Given the description of an element on the screen output the (x, y) to click on. 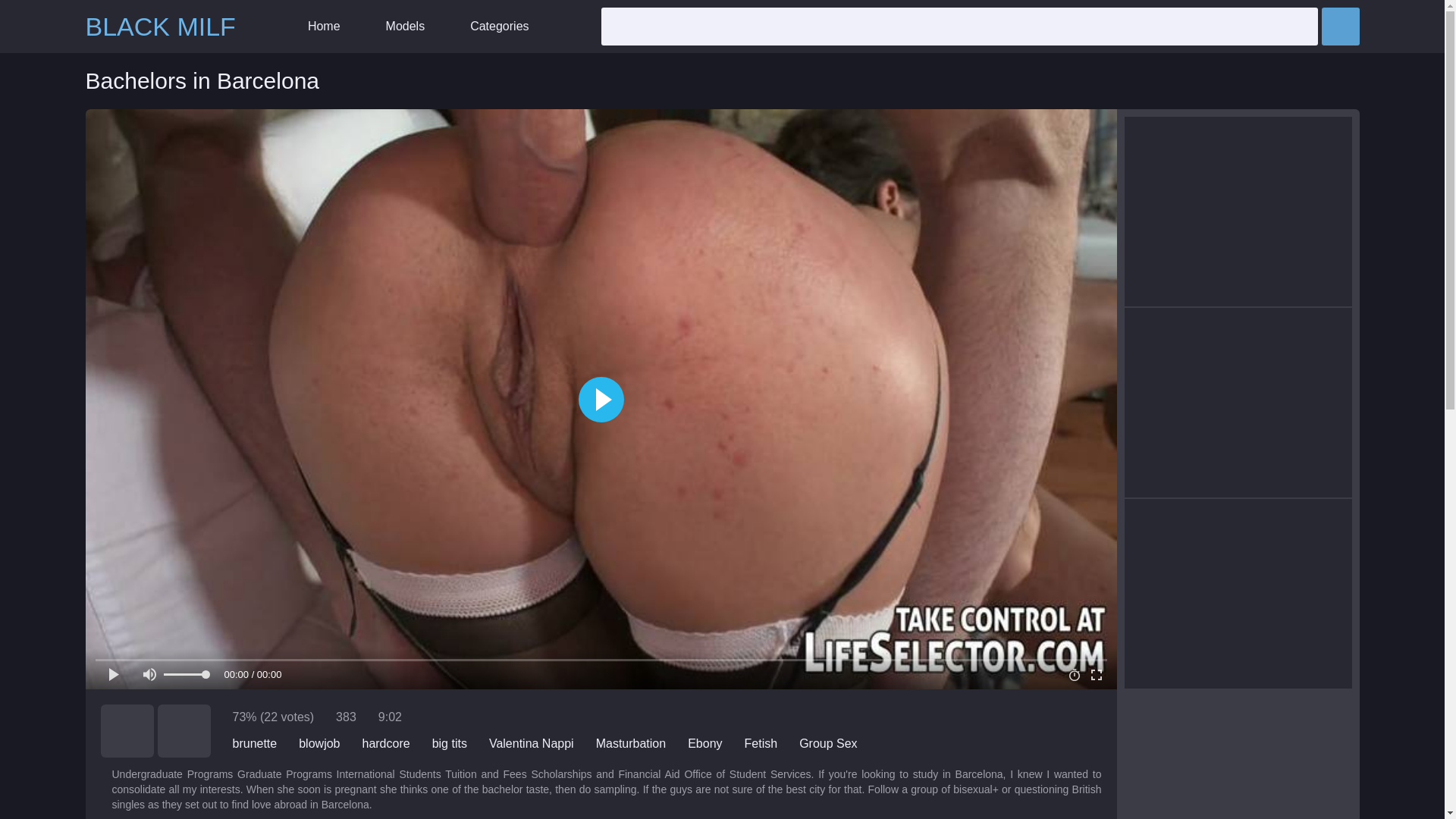
big tits (449, 743)
Ebony (704, 743)
brunette (253, 743)
BLACK MILF (159, 26)
Masturbation (630, 743)
Valentina Nappi (531, 743)
Group Sex (828, 743)
Home (324, 26)
Models (405, 26)
Categories (499, 26)
